Given the description of an element on the screen output the (x, y) to click on. 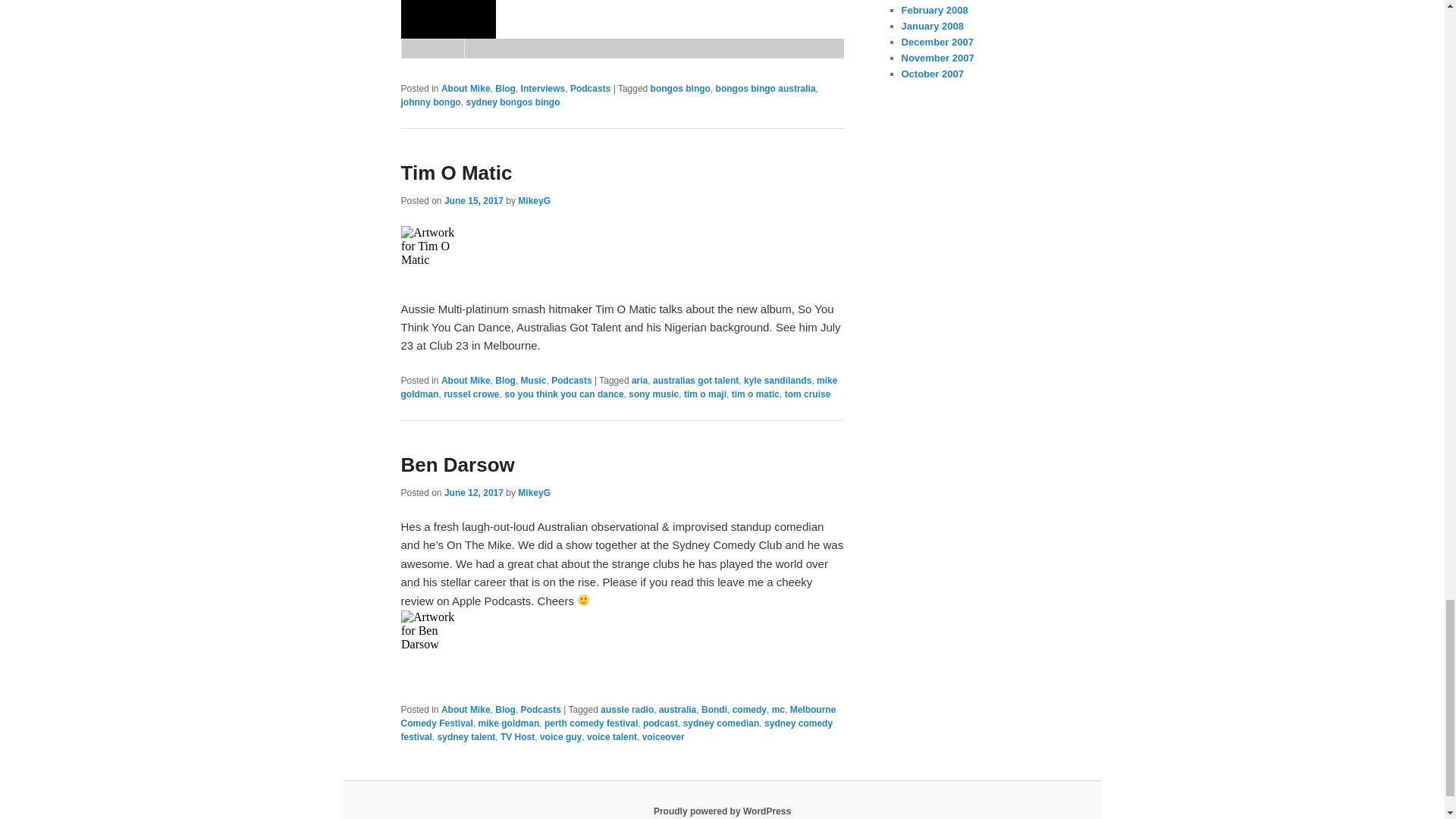
bongos bingo australia (765, 88)
Podcasts (590, 88)
sydney bongos bingo (512, 102)
View all posts by MikeyG (534, 492)
June 15, 2017 (473, 200)
Tim O Matic (456, 172)
Blog (505, 88)
About Mike (465, 88)
bongos bingo (680, 88)
8:54 pm (473, 200)
View all posts by MikeyG (534, 200)
Semantic Personal Publishing Platform (721, 810)
Interviews (543, 88)
5:18 am (473, 492)
johnny bongo (430, 102)
